Given the description of an element on the screen output the (x, y) to click on. 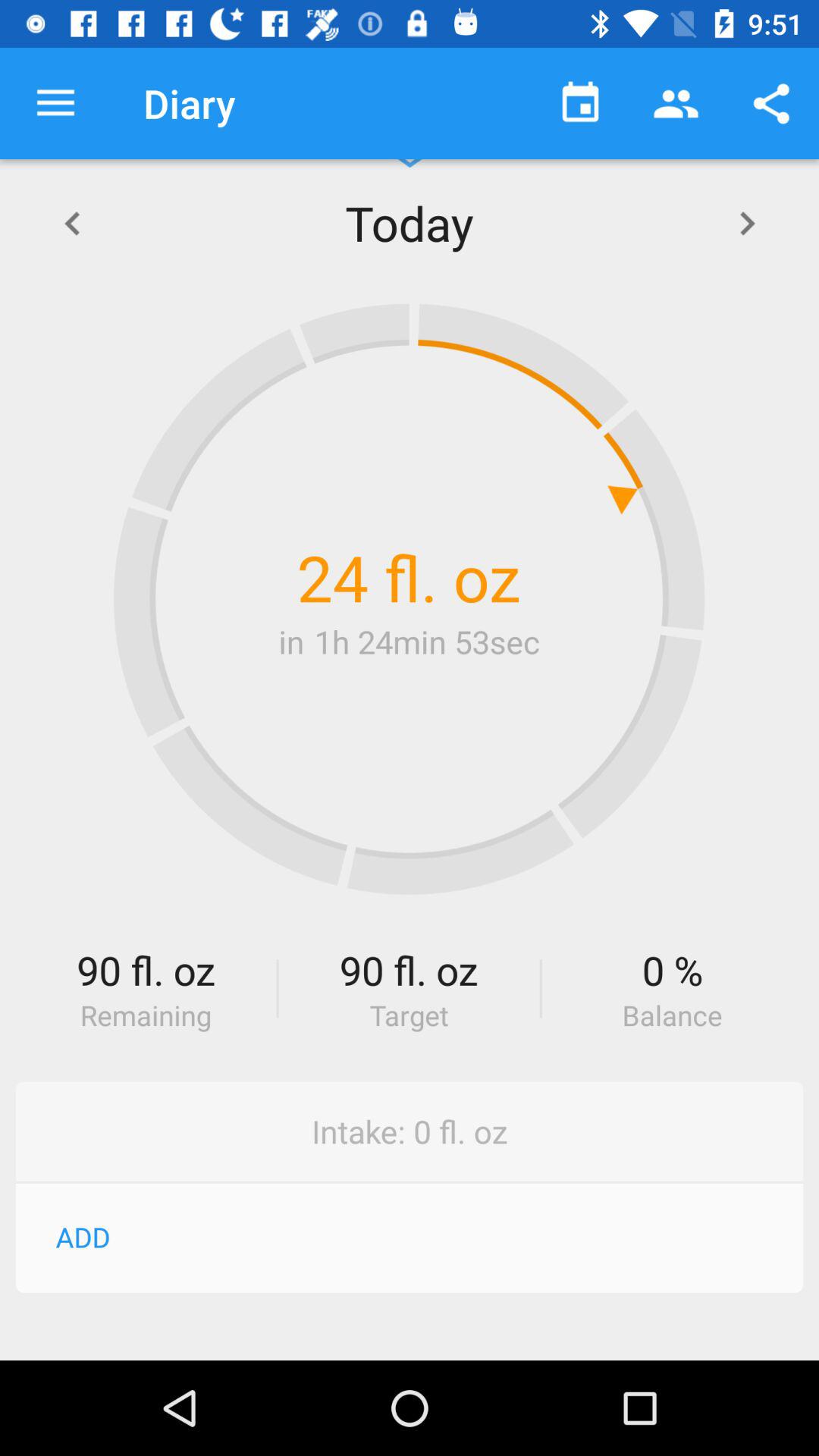
launch icon next to the diary (55, 103)
